Given the description of an element on the screen output the (x, y) to click on. 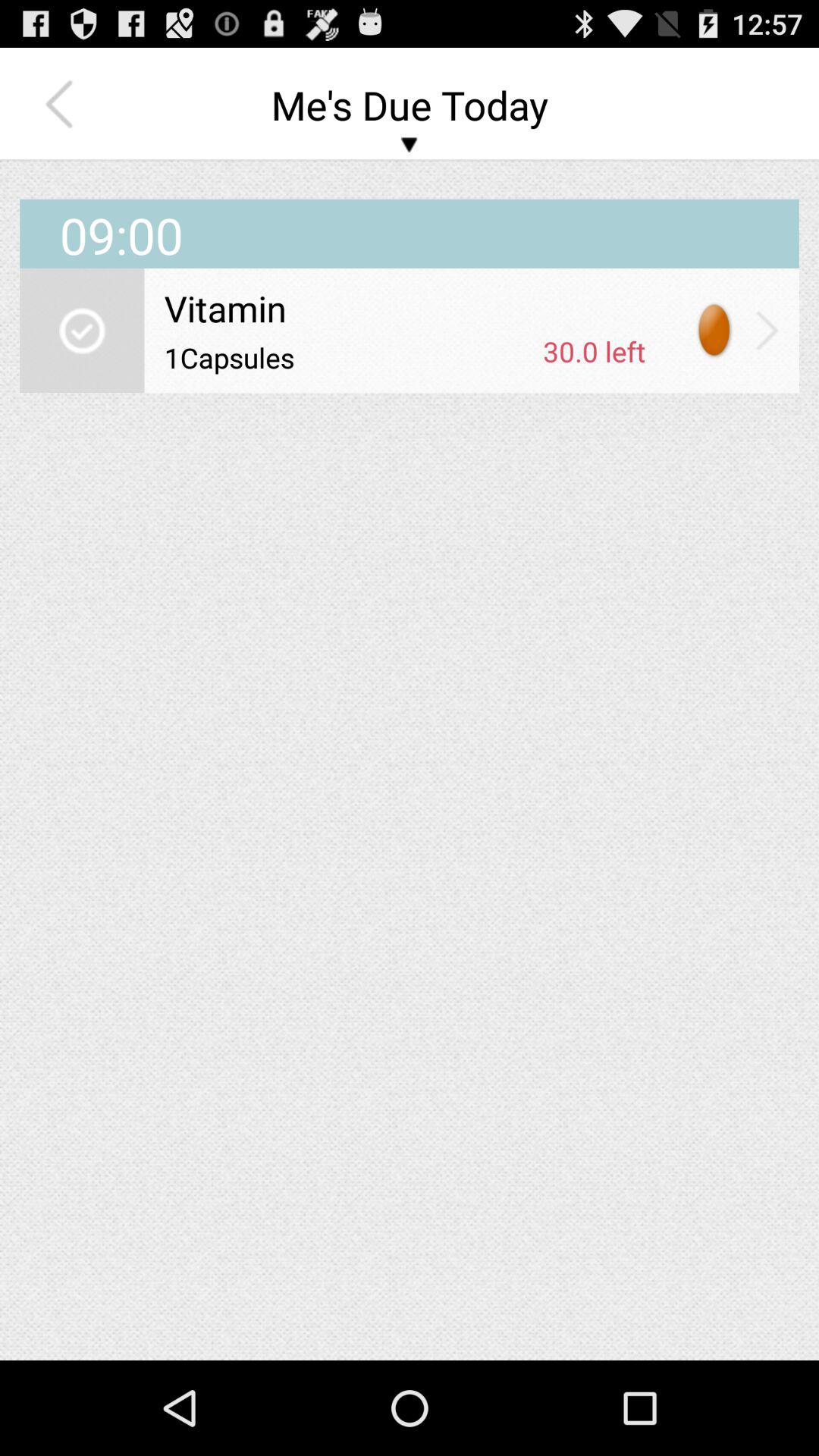
press app to the left of the 30.0 left (348, 357)
